Given the description of an element on the screen output the (x, y) to click on. 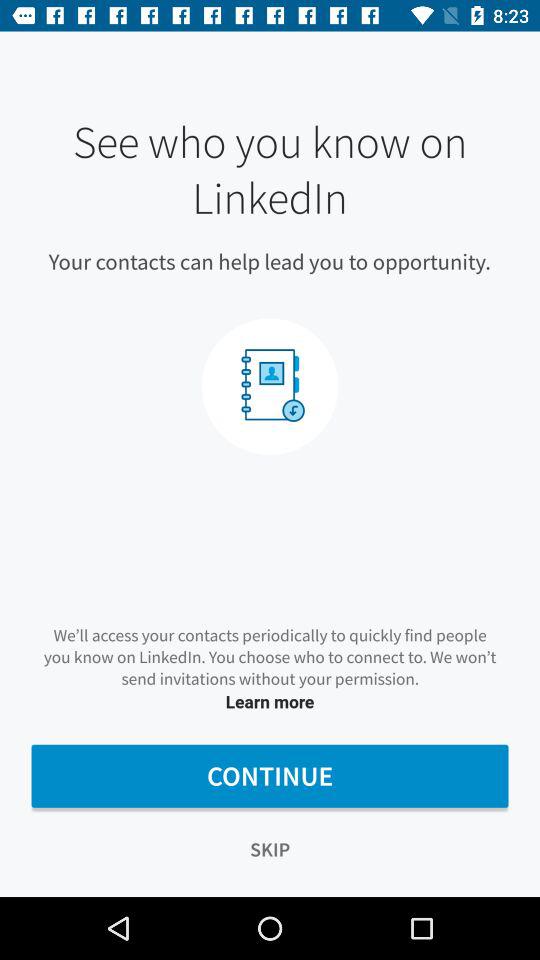
scroll until continue icon (269, 775)
